Given the description of an element on the screen output the (x, y) to click on. 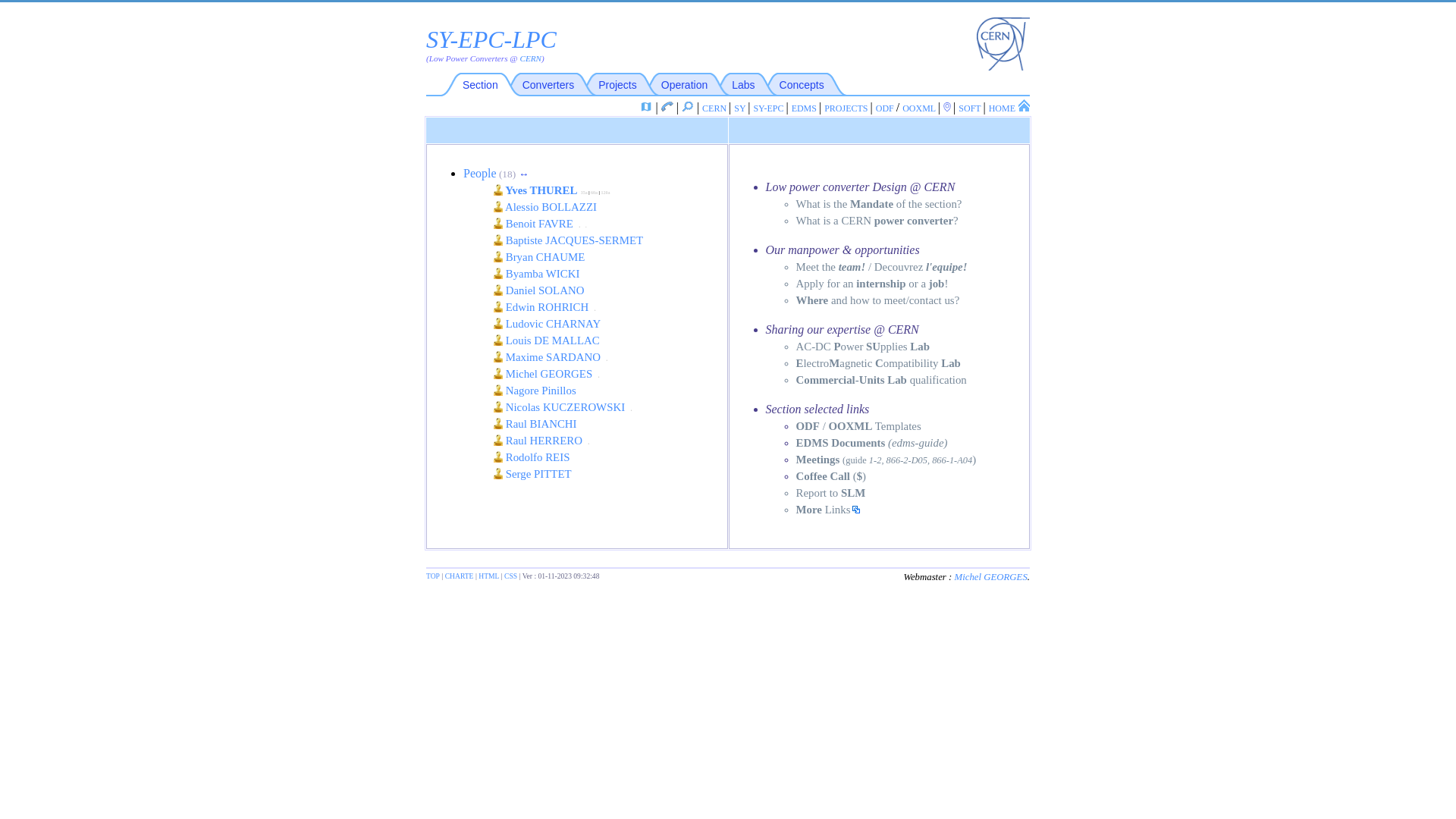
Louis DE MALLAC Element type: text (546, 340)
SOFT Element type: text (970, 108)
Displays more about Bryan Chaume Element type: hover (497, 256)
Serge PITTET Element type: text (532, 473)
Raul HERRERO Element type: text (539, 440)
866-2-D05 Element type: text (906, 460)
OOXML Element type: text (920, 108)
(edms-guide) Element type: text (917, 442)
Displays more about Maxime SARDANO Element type: hover (497, 356)
($) Element type: text (859, 476)
ElectroMagnetic Compatibility Lab Element type: text (878, 363)
Commercial-Units Lab qualification Element type: text (881, 379)
CERN Map / Buildings Alt+Shift+X Element type: hover (646, 106)
Byamba WICKI Element type: text (536, 273)
Displays more about N. Pinillos Element type: hover (497, 389)
Displays more about Benoit FAVRE Element type: hover (497, 223)
Displays more about Edwin ROHRICH Element type: hover (497, 306)
Michel GEORGES Element type: text (989, 576)
Michel GEORGES Element type: text (544, 373)
Offices attribution Element type: hover (948, 108)
866-1-A04 Element type: text (951, 460)
Coffee Call Element type: text (823, 476)
Edwin ROHRICH Element type: text (542, 307)
Rodolfo REIS Element type: text (531, 457)
Section Element type: text (480, 84)
SY Element type: text (740, 108)
Displays more about Raul BIANCHI Element type: hover (497, 423)
 35a  Element type: text (583, 192)
CHARTE Element type: text (459, 575)
CERN Element type: text (715, 108)
Displays more about Raul HERRERO Element type: hover (497, 439)
manpower Element type: text (813, 249)
ODF Element type: text (885, 108)
 .  Element type: text (586, 223)
Alessio BOLLAZZI Element type: text (544, 206)
Nagore Pinillos Element type: text (534, 390)
job Element type: text (936, 283)
AC-DC Power SUpplies Lab Element type: text (862, 346)
 .  Element type: text (594, 307)
Nicolas KUCZEROWSKI Element type: text (560, 407)
Displays more about Byamba Wicki Element type: hover (497, 273)
ODF Element type: text (807, 426)
Displays more about Alessio BOLLAZZI Element type: hover (497, 206)
PROJECTS Element type: text (846, 108)
 .  Element type: text (606, 357)
What is a CERN power converter? Element type: text (877, 220)
Yves THUREL Element type: text (536, 190)
 60a  Element type: text (594, 192)
Report to SLM Element type: text (831, 492)
 .  Element type: text (579, 223)
SY-EPC Element type: text (769, 108)
Daniel SOLANO Element type: text (538, 290)
Displays more about Ludovic CHARNAY Element type: hover (497, 323)
Displays more about Baptiste JACQUES-SERMET Element type: hover (497, 239)
EDMS Documents Element type: text (840, 442)
Meet the team! Element type: text (831, 266)
Converters Element type: text (548, 84)
Ludovic CHARNAY Element type: text (546, 323)
Where and how to meet/contact us? Element type: text (878, 300)
 .  Element type: text (588, 440)
Benoit FAVRE Element type: text (534, 223)
SY-EPC-LPC Element type: text (491, 39)
Bryan CHAUME Element type: text (538, 257)
Displays more about Daniel SOLANO Element type: hover (497, 289)
internship Element type: text (880, 283)
Displays more about Michel GEORGES Element type: hover (497, 373)
Maxime SARDANO Element type: text (548, 357)
HTML Element type: text (488, 575)
 .  Element type: text (630, 407)
Baptiste JACQUES-SERMET Element type: text (568, 240)
Displays more about Serge PITTET Element type: hover (497, 473)
Displays more about Louis DE MALLAC Element type: hover (497, 339)
CERN Phonebook Alt+Shift+X Element type: hover (667, 106)
CSS Element type: text (510, 575)
Labs Element type: text (742, 84)
Meetings Element type: text (818, 459)
Displays more about Yves THUREL Section Leader LPC Element type: hover (497, 189)
Displays more about Nicolas KUCZEROWSKI Element type: hover (497, 406)
Decouvrez l'equipe! Element type: text (920, 266)
 .  Element type: text (598, 373)
People Element type: text (479, 172)
Projects Element type: text (617, 84)
CERN Element type: text (938, 186)
TOP Element type: text (432, 575)
CERN Element type: text (903, 329)
EDMS Element type: text (805, 108)
 120a  Element type: text (605, 192)
Operation Element type: text (684, 84)
2 Element type: text (878, 460)
What is the Mandate of the section? Element type: text (879, 203)
Search Alt+Shift+F Element type: hover (687, 106)
OOXML Element type: text (850, 426)
Raul BIANCHI Element type: text (535, 423)
CERN Element type: text (530, 57)
More Links Element type: text (828, 509)
1 Element type: text (871, 460)
Displays more about Rodolfo REIS Element type: hover (497, 456)
HOME Element type: text (1008, 108)
